Given the description of an element on the screen output the (x, y) to click on. 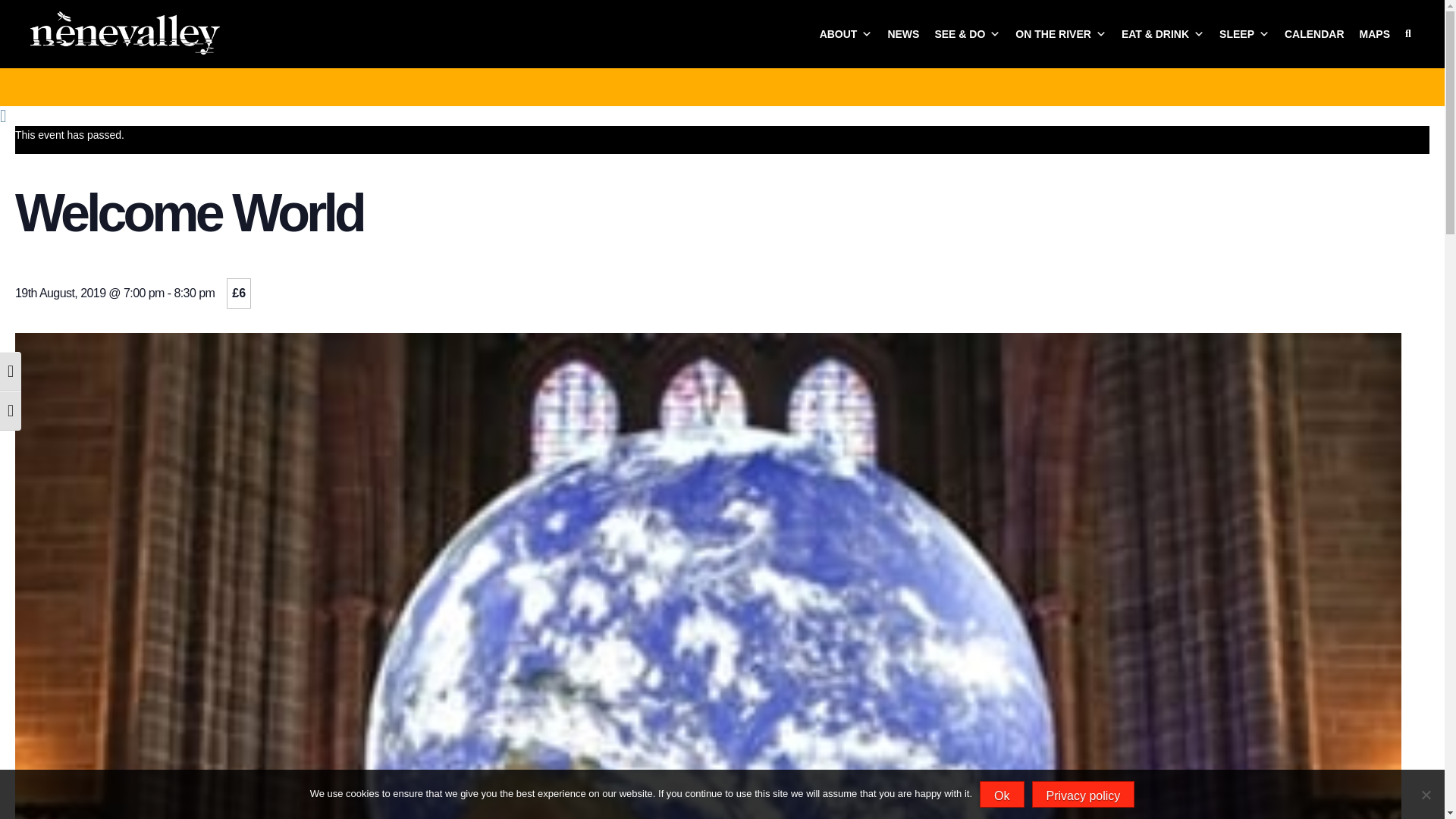
ABOUT (846, 33)
No (1425, 794)
